Given the description of an element on the screen output the (x, y) to click on. 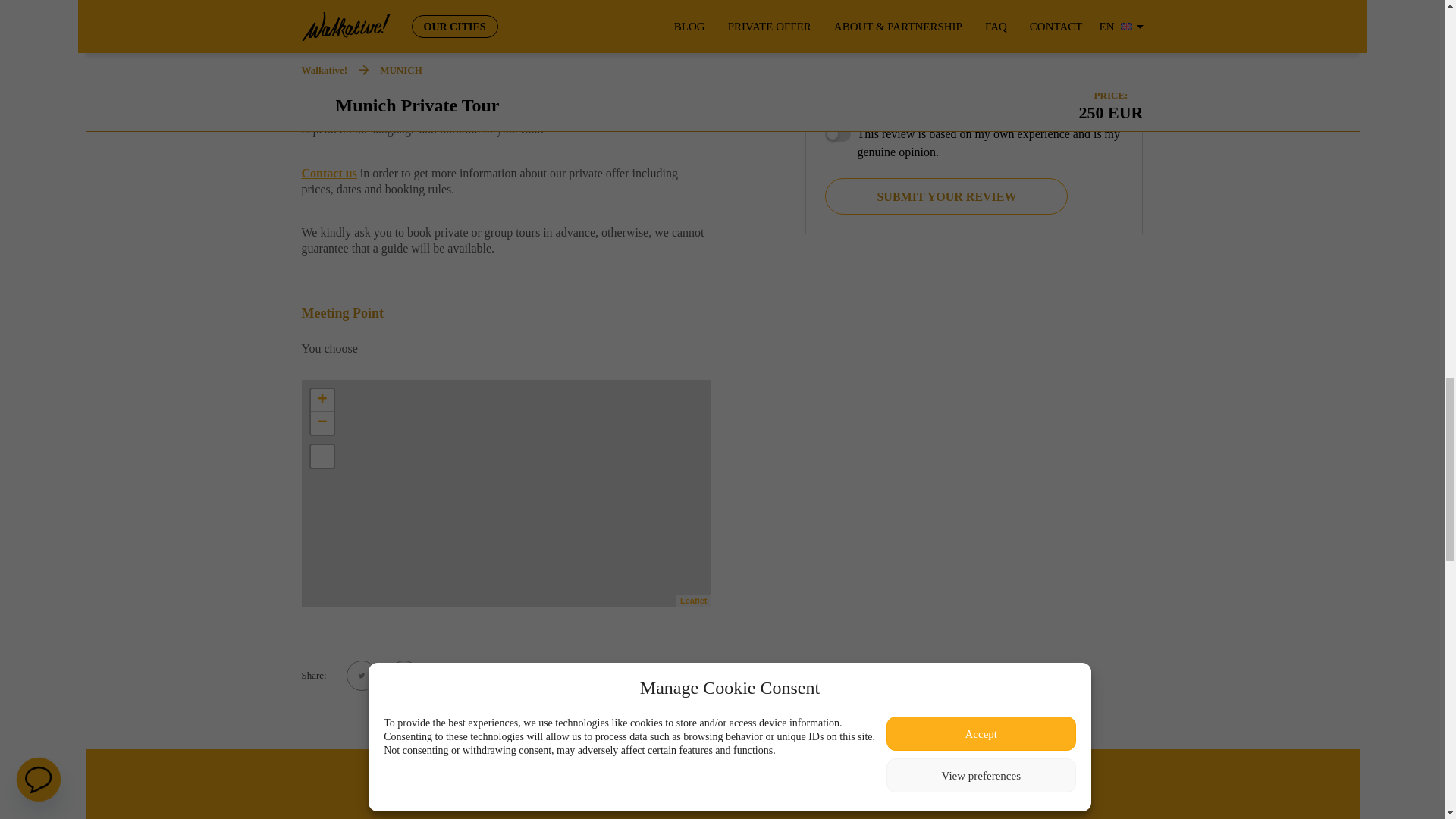
1 (837, 133)
View Fullscreen (322, 456)
A JS library for interactive maps (692, 600)
Zoom in (322, 400)
Zoom out (322, 422)
